Given the description of an element on the screen output the (x, y) to click on. 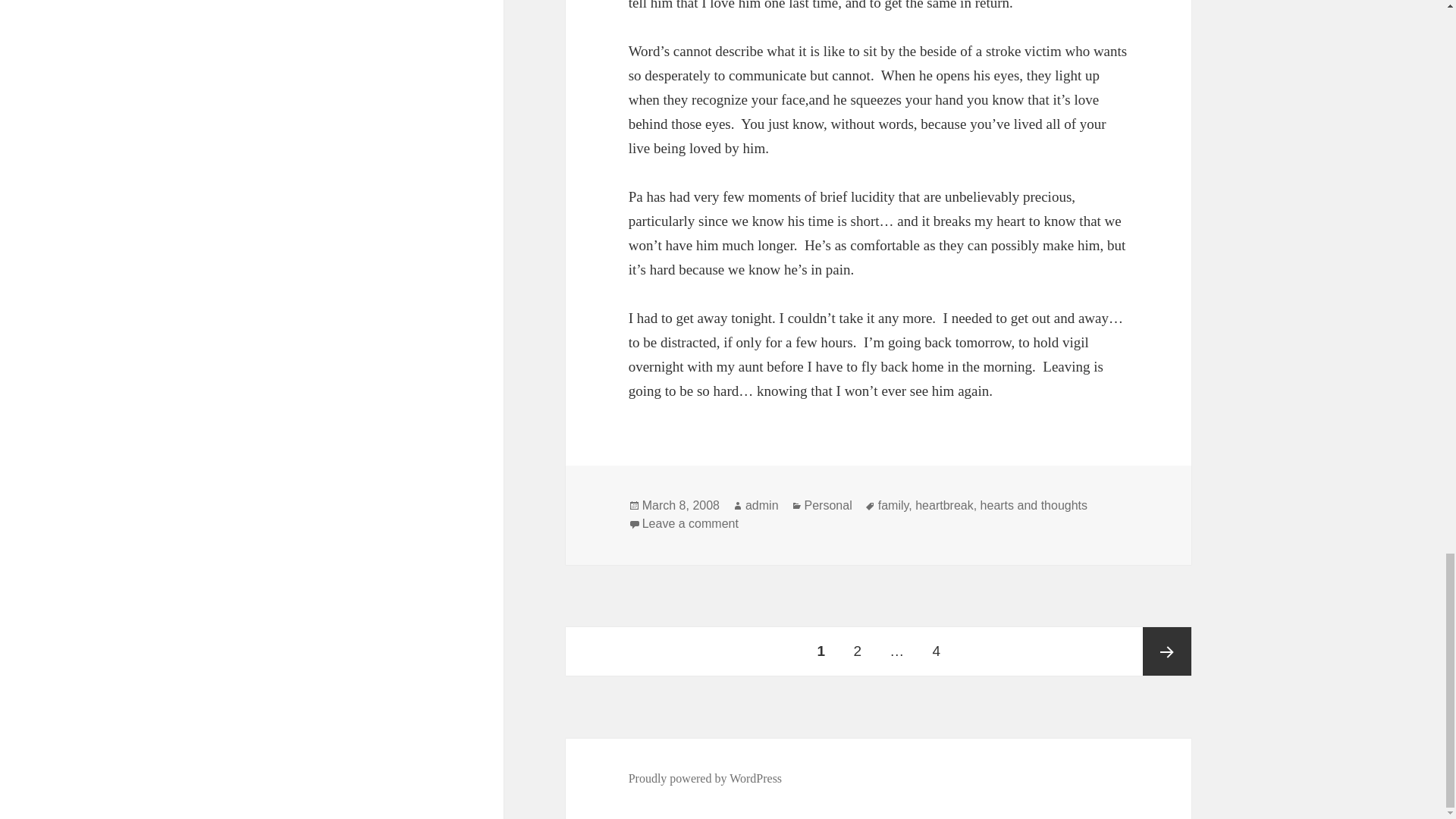
family (892, 505)
hearts and thoughts (1033, 505)
admin (761, 505)
Personal (828, 505)
March 8, 2008 (680, 505)
heartbreak (944, 505)
